Given the description of an element on the screen output the (x, y) to click on. 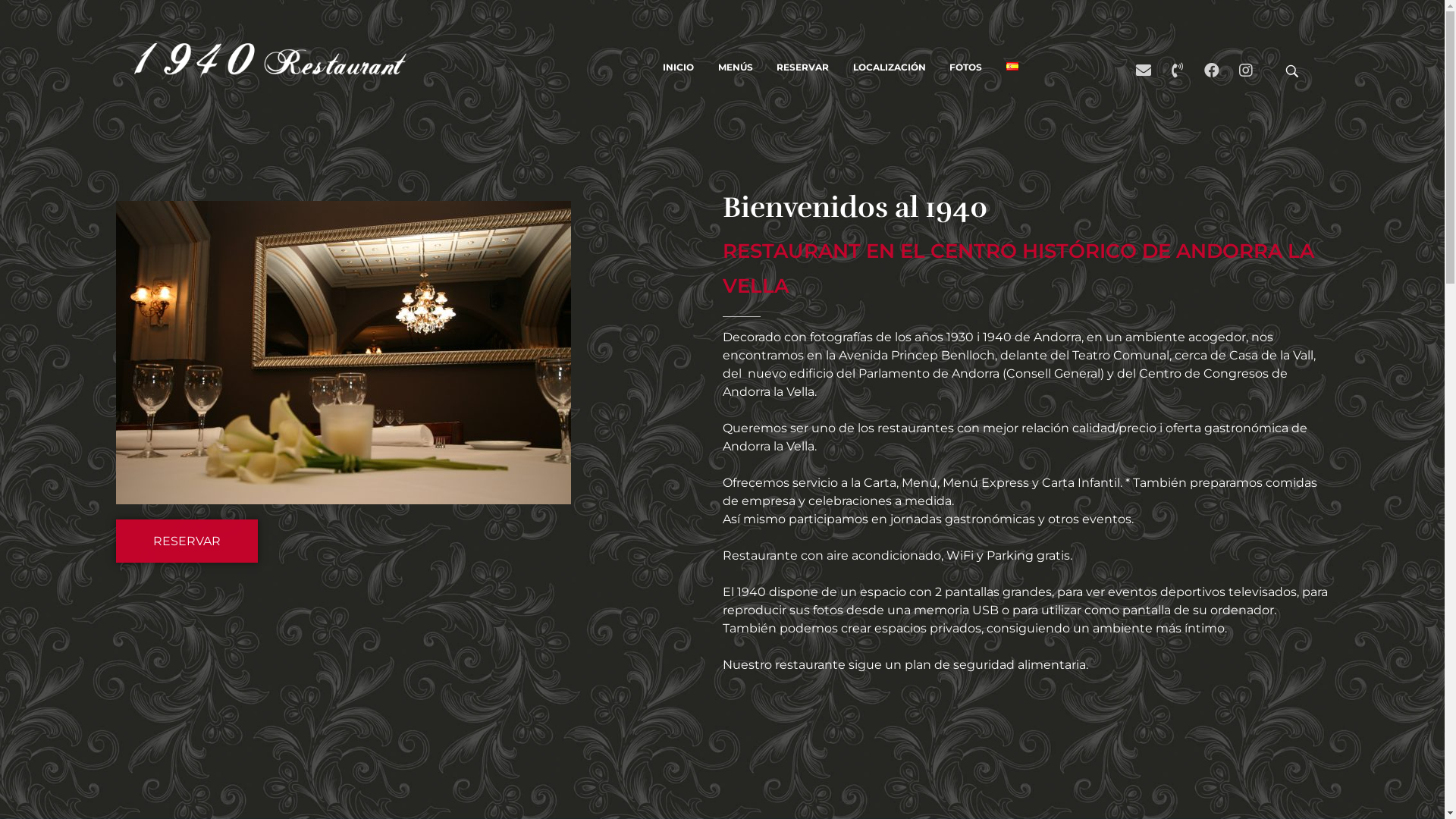
INICIO Element type: text (684, 67)
RESERVAR Element type: text (186, 540)
restaurant_1940_1 Element type: hover (342, 352)
FOTOS Element type: text (965, 67)
RESERVAR Element type: text (802, 67)
